Given the description of an element on the screen output the (x, y) to click on. 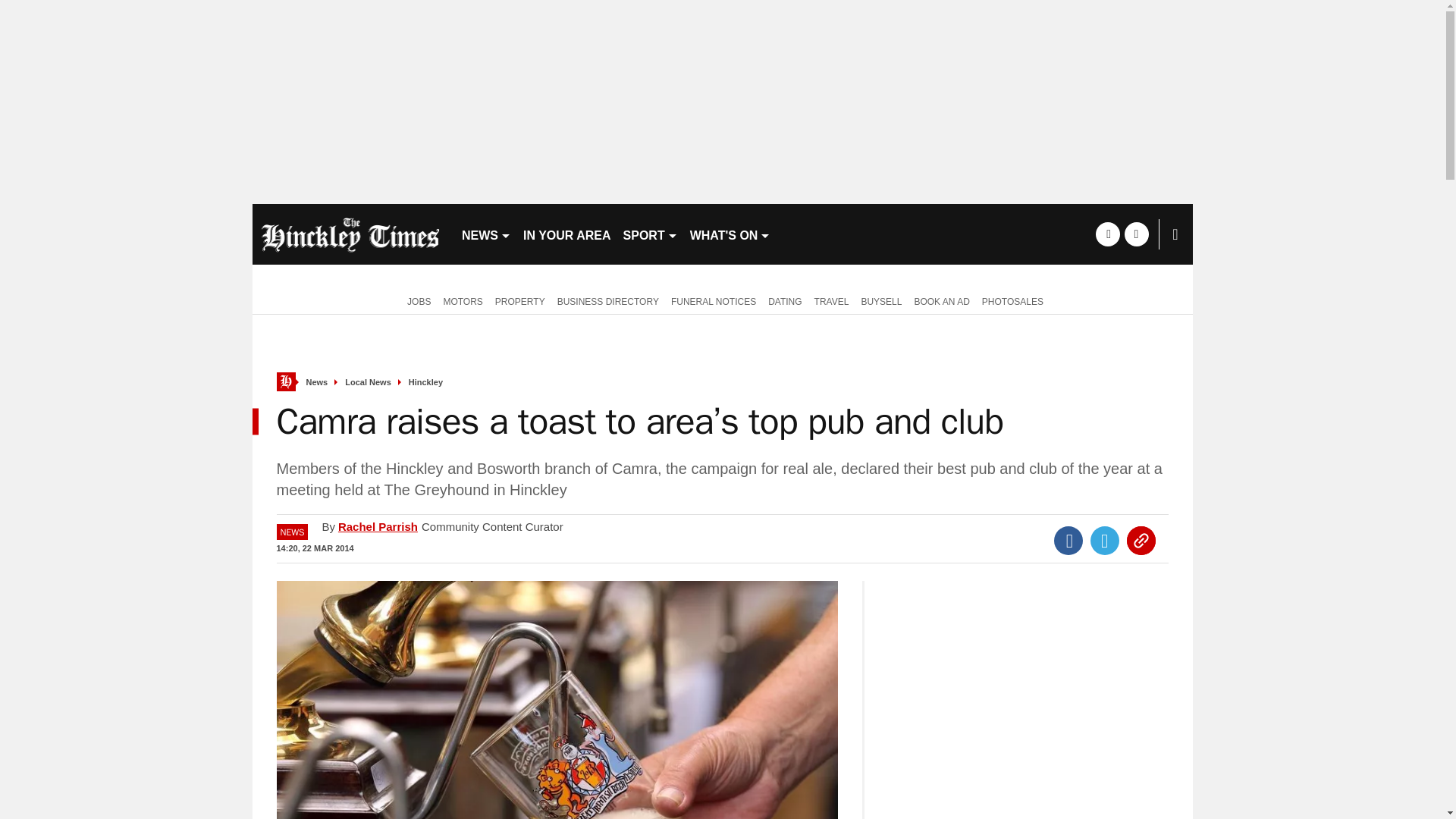
PROPERTY (520, 300)
hinckleytimes (349, 233)
FUNERAL NOTICES (713, 300)
DATING (784, 300)
WHAT'S ON (730, 233)
BOOK AN AD (941, 300)
twitter (1136, 233)
JOBS (415, 300)
facebook (1106, 233)
BUYSELL (880, 300)
